Given the description of an element on the screen output the (x, y) to click on. 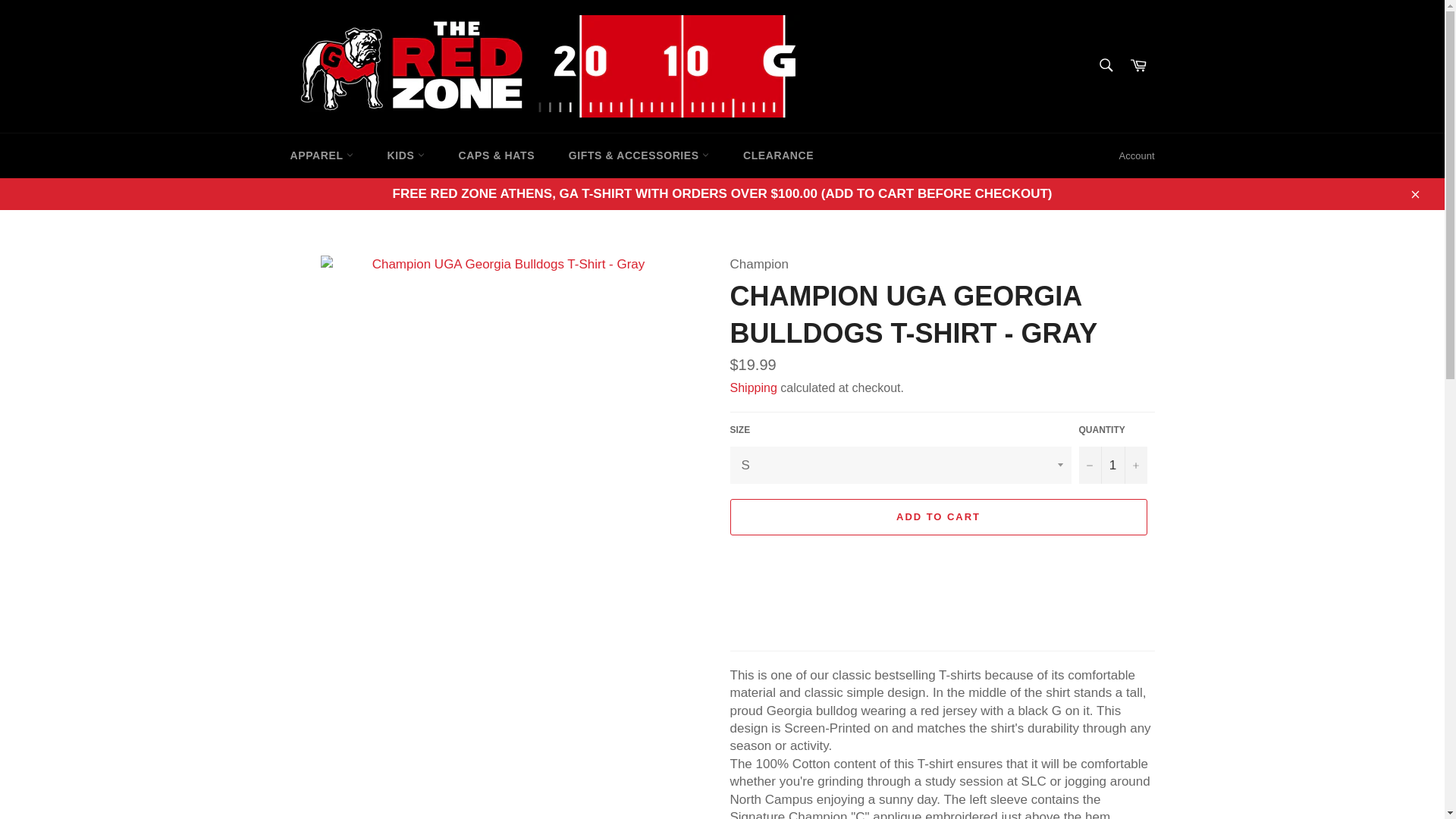
1 (1112, 465)
Search (1104, 65)
